Given the description of an element on the screen output the (x, y) to click on. 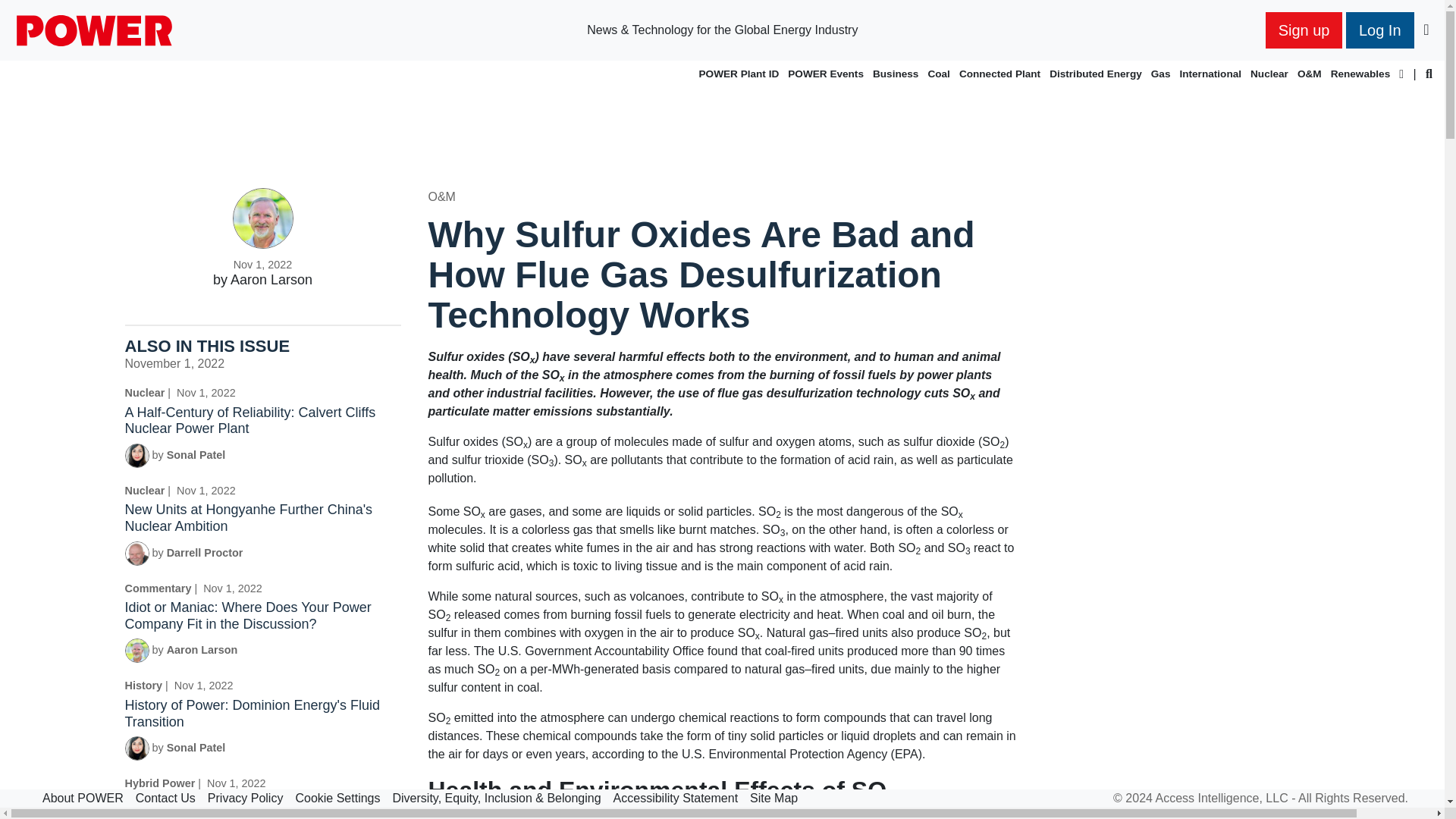
Open Navigation (1425, 32)
Sign up (1303, 30)
Log In (1379, 30)
